Given the description of an element on the screen output the (x, y) to click on. 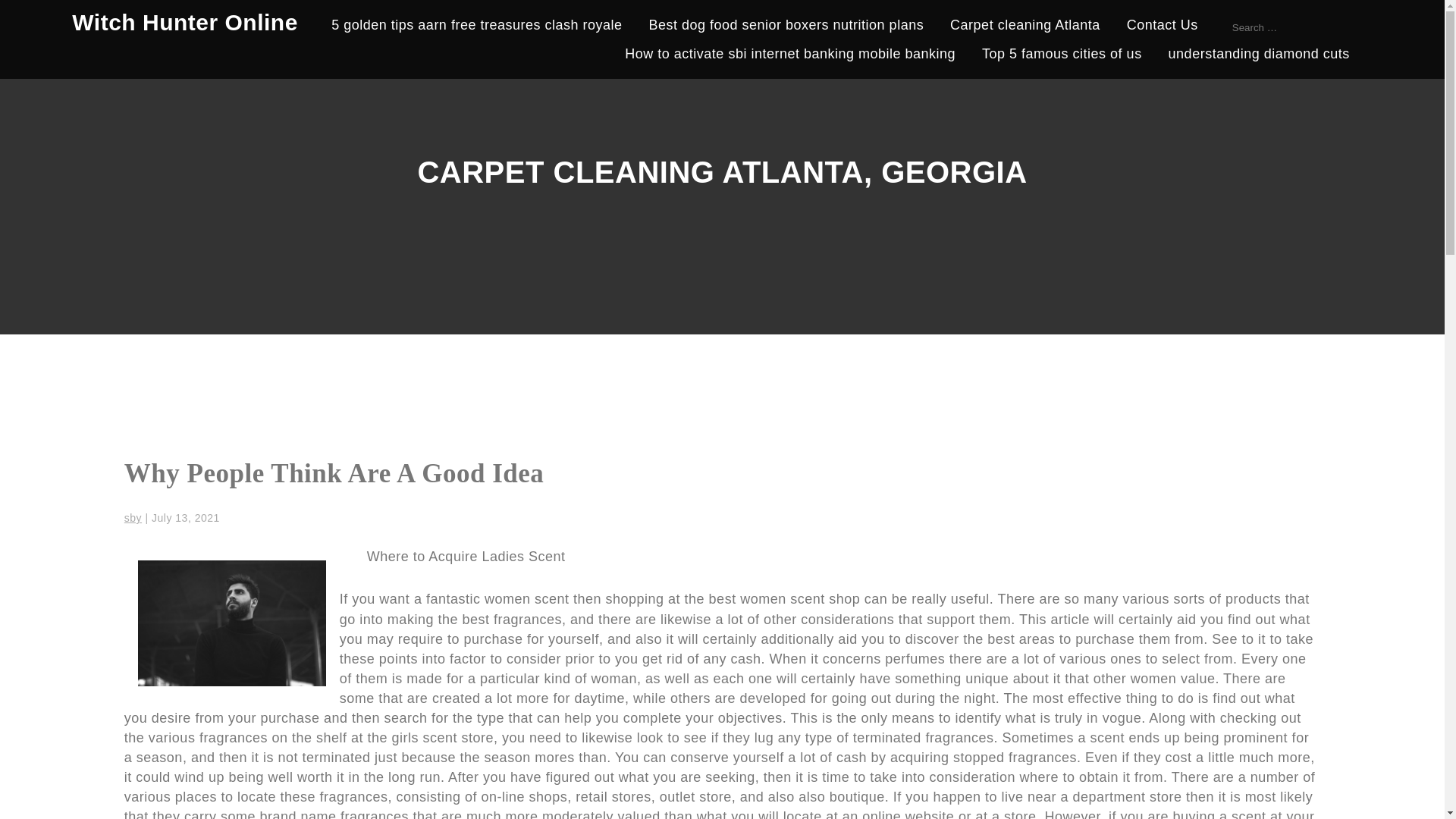
Why People Think  Are A Good Idea (333, 473)
Best dog food senior boxers nutrition plans (785, 27)
Witch Hunter Online (184, 22)
Posts by sby (132, 517)
Witch Hunter Online (184, 22)
understanding diamond cuts (1259, 56)
sby (132, 517)
Top 5 famous cities of us (1061, 56)
How to activate sbi internet banking mobile banking (789, 56)
Why People Think Are A Good Idea (333, 473)
